Given the description of an element on the screen output the (x, y) to click on. 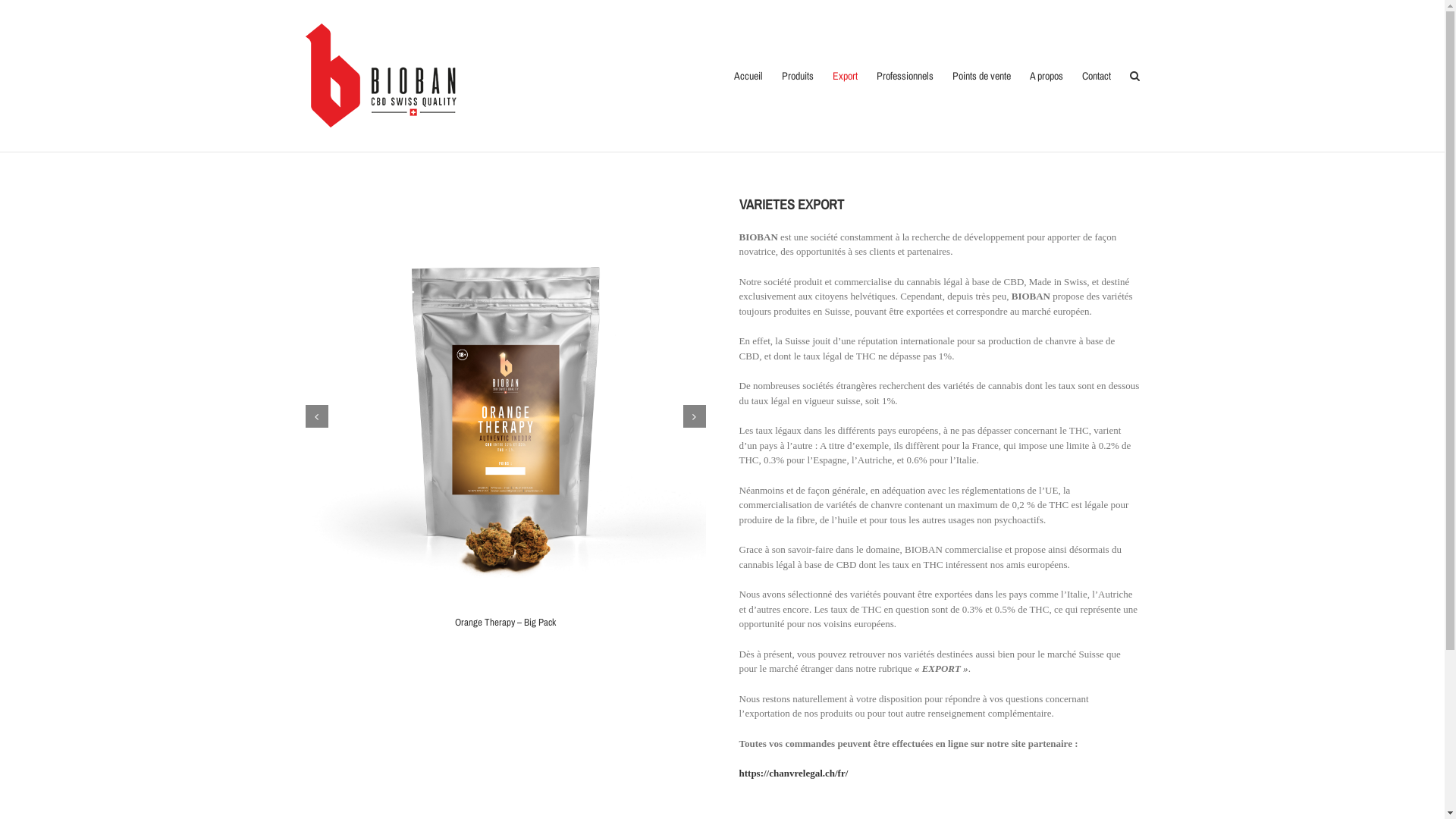
https://chanvrelegal.ch/fr/ Element type: text (792, 772)
A propos Element type: text (1046, 75)
Points de vente Element type: text (981, 75)
Professionnels Element type: text (904, 75)
Produits Element type: text (796, 75)
Accueil Element type: text (748, 75)
Export Element type: text (844, 75)
Contact Element type: text (1095, 75)
